Given the description of an element on the screen output the (x, y) to click on. 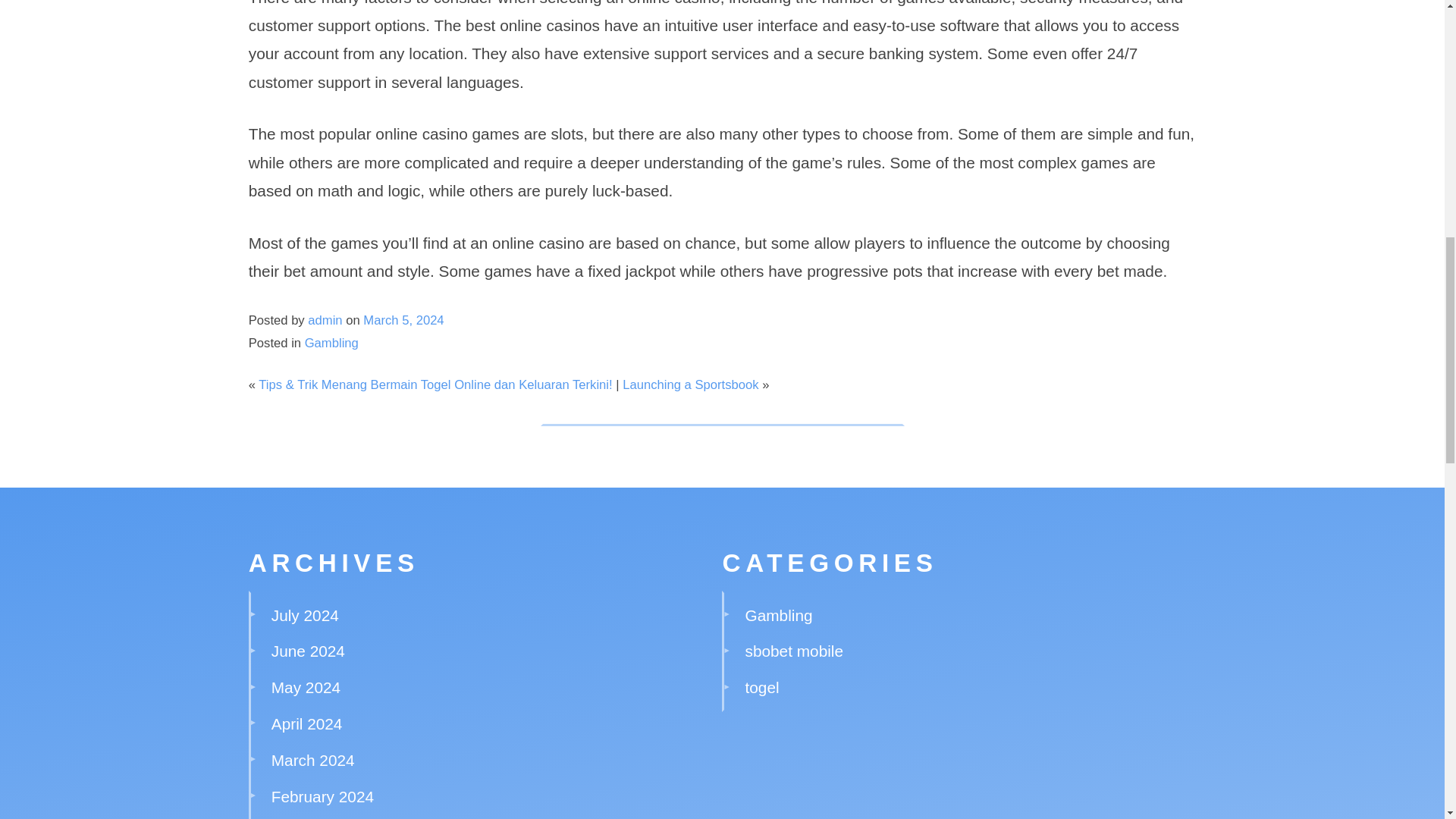
March 2024 (312, 760)
sbobet mobile (794, 651)
April 2024 (306, 723)
March 5, 2024 (403, 319)
Gambling (331, 342)
June 2024 (307, 651)
Gambling (778, 615)
May 2024 (305, 687)
February 2024 (322, 796)
admin (324, 319)
July 2024 (304, 615)
togel (761, 687)
Launching a Sportsbook (690, 384)
